Given the description of an element on the screen output the (x, y) to click on. 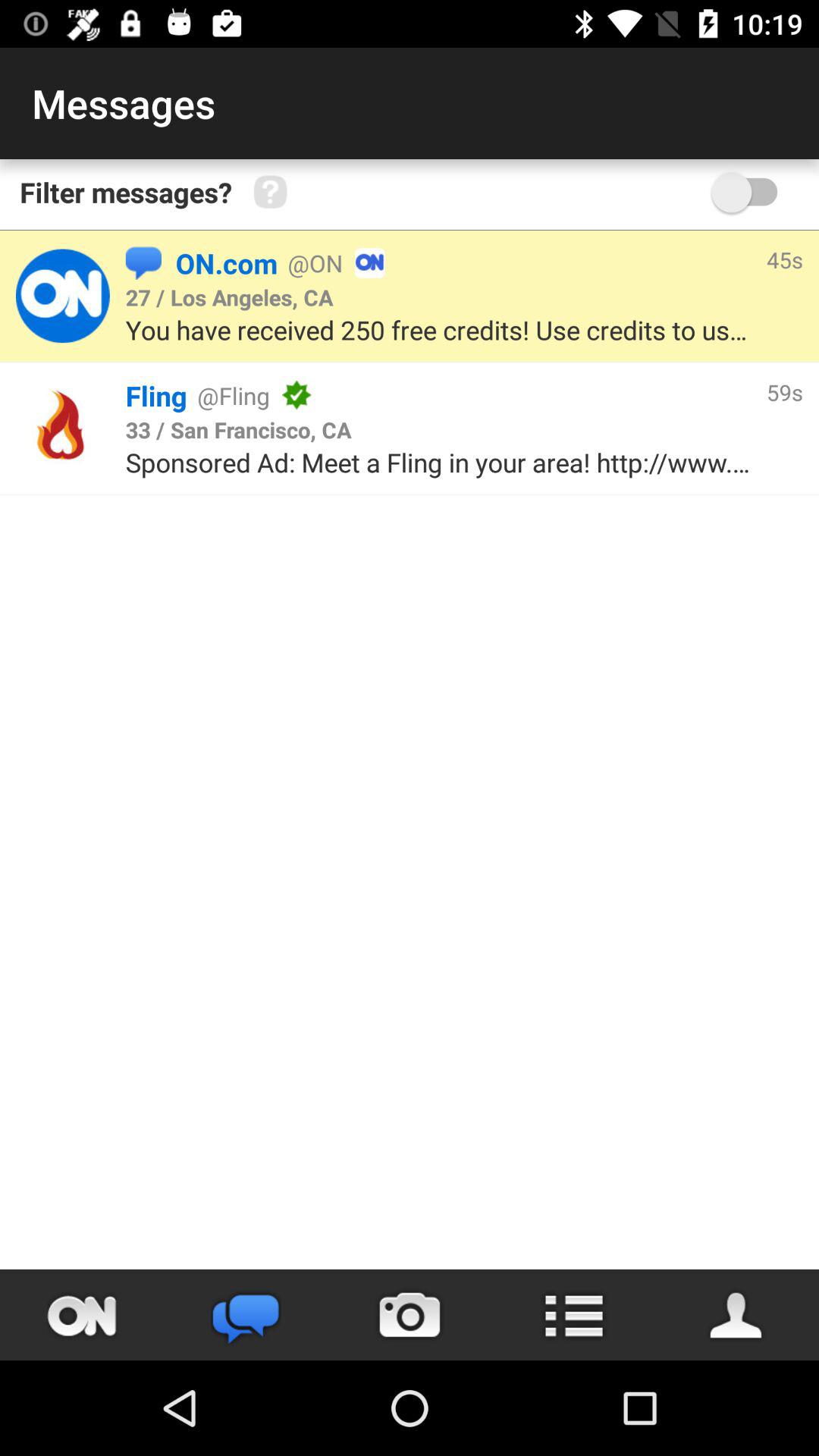
press the 59s item (784, 392)
